Given the description of an element on the screen output the (x, y) to click on. 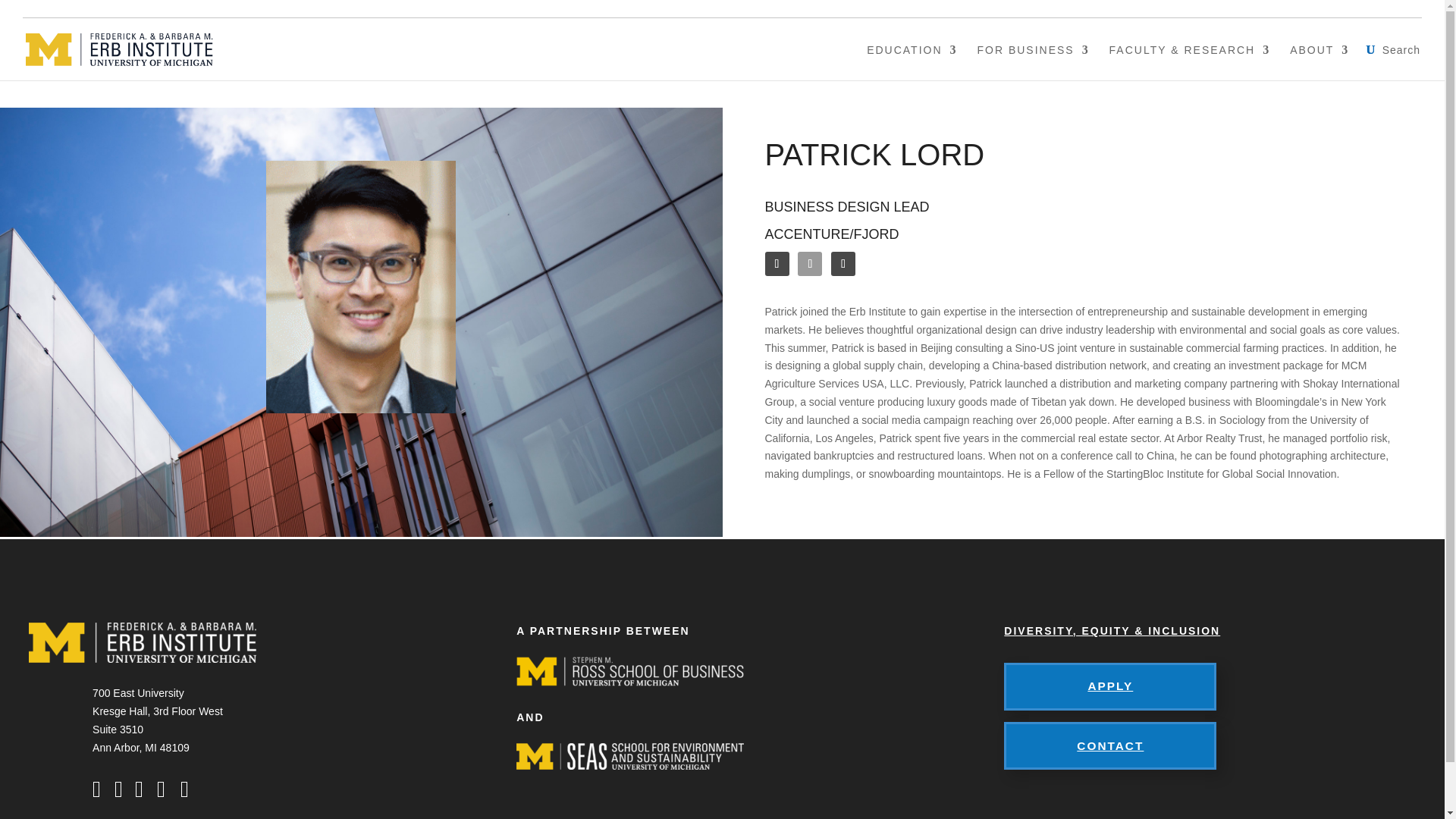
Links for (1387, 8)
Calendar (1234, 8)
Email (843, 263)
ABOUT (1319, 61)
Follow on LinkedIn (776, 263)
Follow on Twitter (809, 263)
FOR BUSINESS (1032, 61)
EDUCATION (911, 61)
Giving (1306, 8)
